Given the description of an element on the screen output the (x, y) to click on. 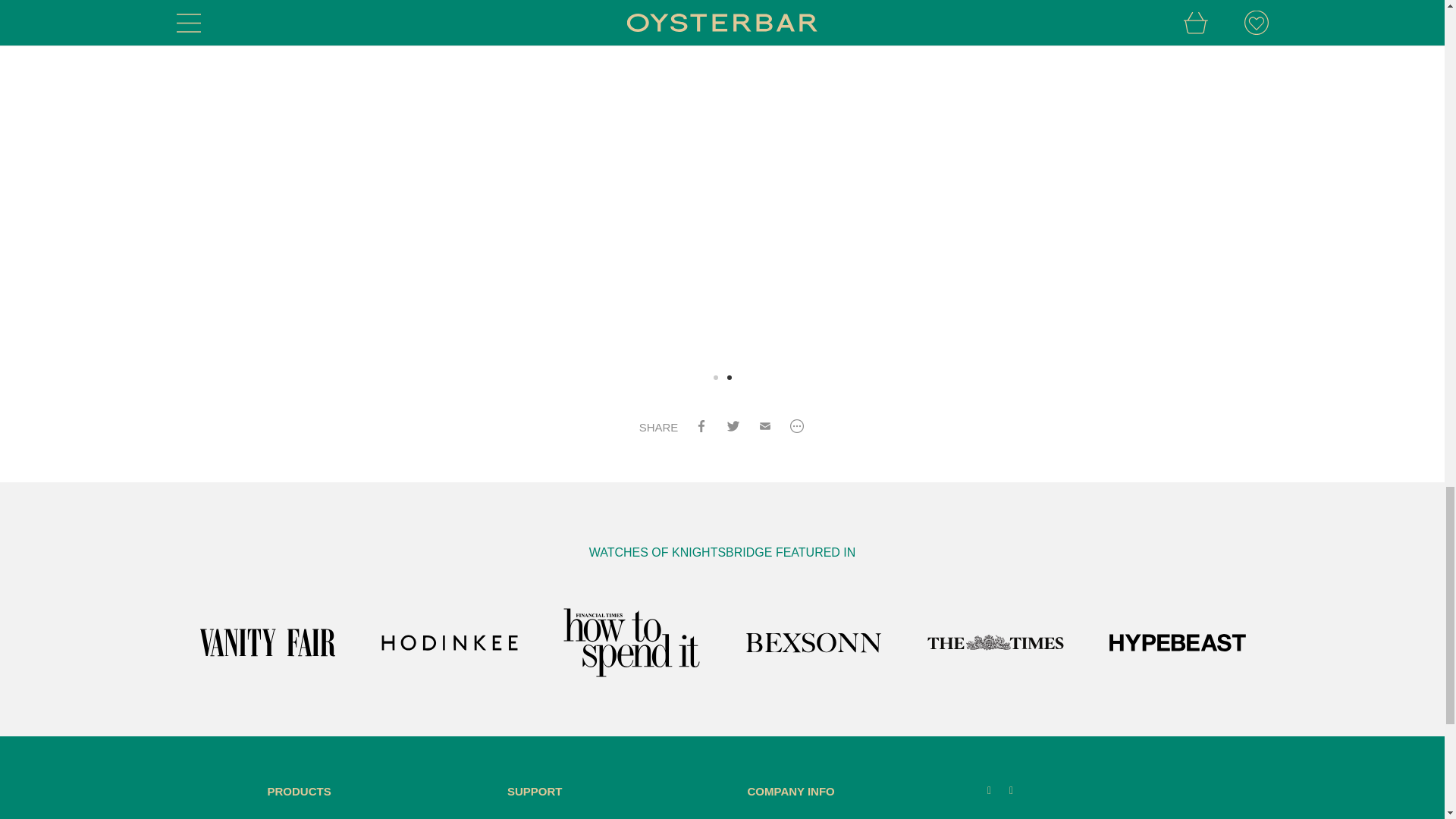
Twitter (733, 427)
Facebook (701, 427)
Email (764, 427)
